Given the description of an element on the screen output the (x, y) to click on. 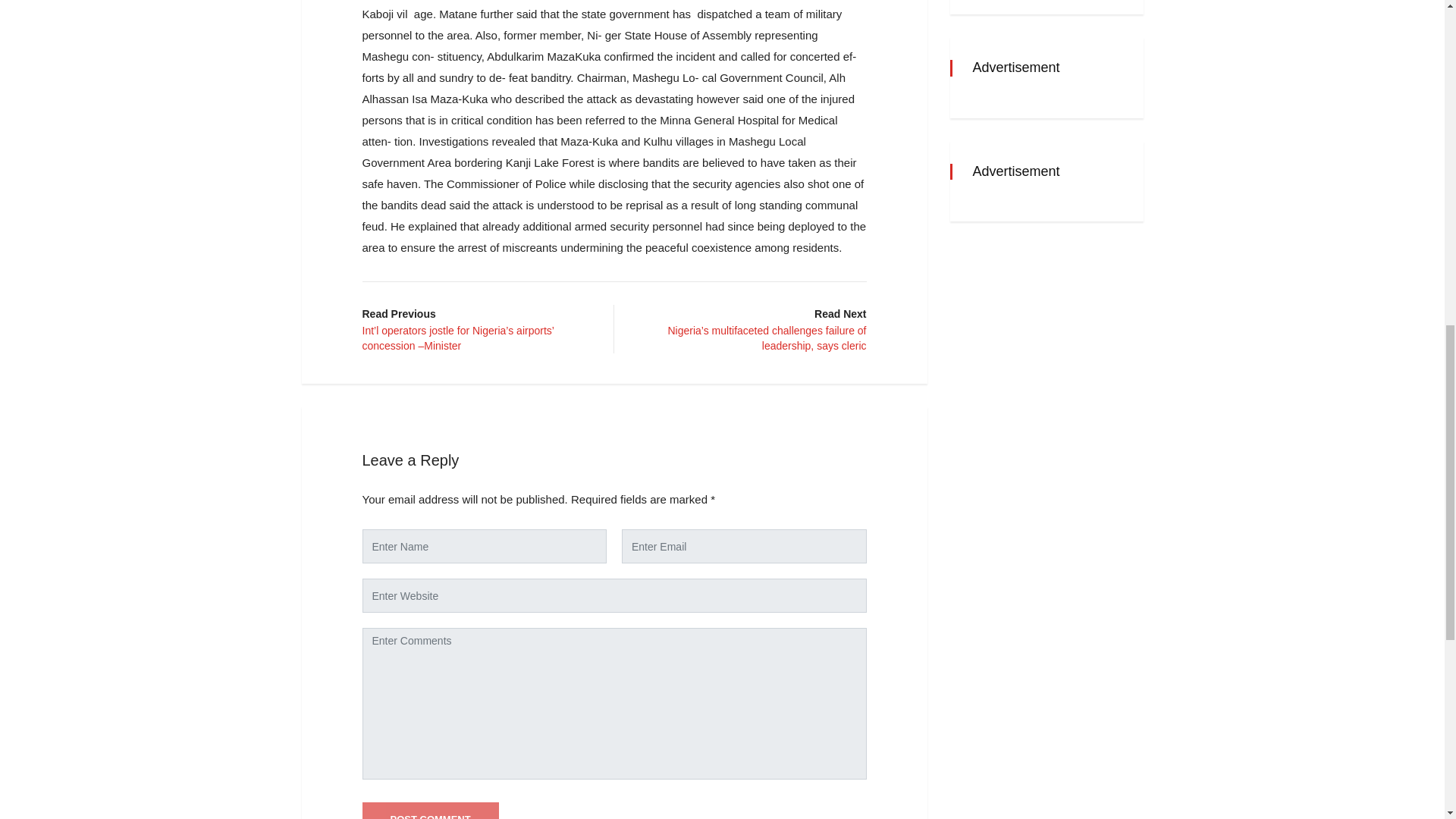
Post Comment (430, 810)
